Given the description of an element on the screen output the (x, y) to click on. 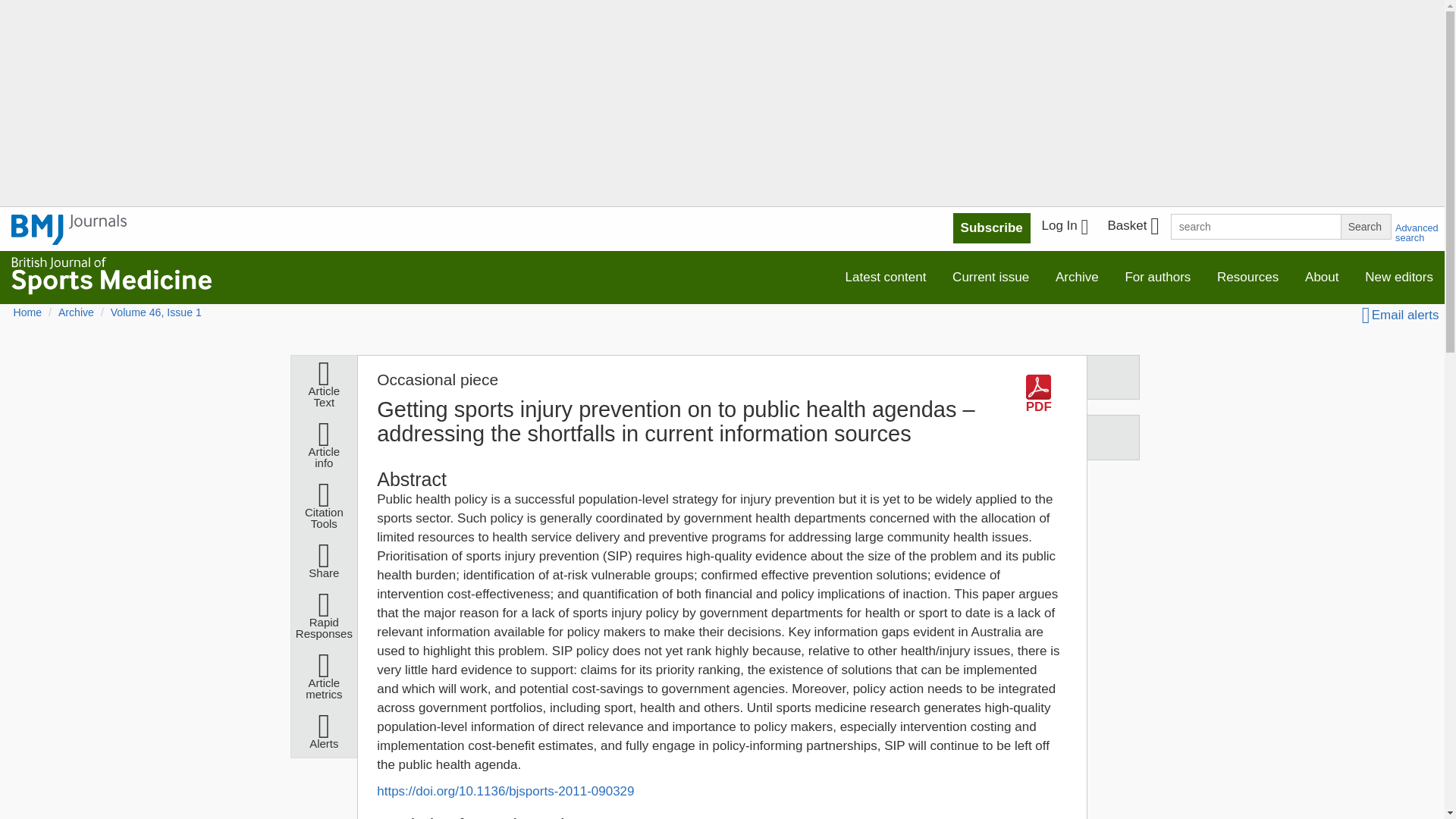
3rd party ad content (947, 800)
Log In (1064, 228)
Resources (1247, 276)
Search (1364, 226)
About (1321, 276)
Current issue (990, 276)
Archive (1076, 276)
Search (1364, 226)
BMJ Journals (68, 229)
Latest content (885, 276)
Subscribe (991, 227)
Basket (1132, 228)
For authors (1157, 276)
